Given the description of an element on the screen output the (x, y) to click on. 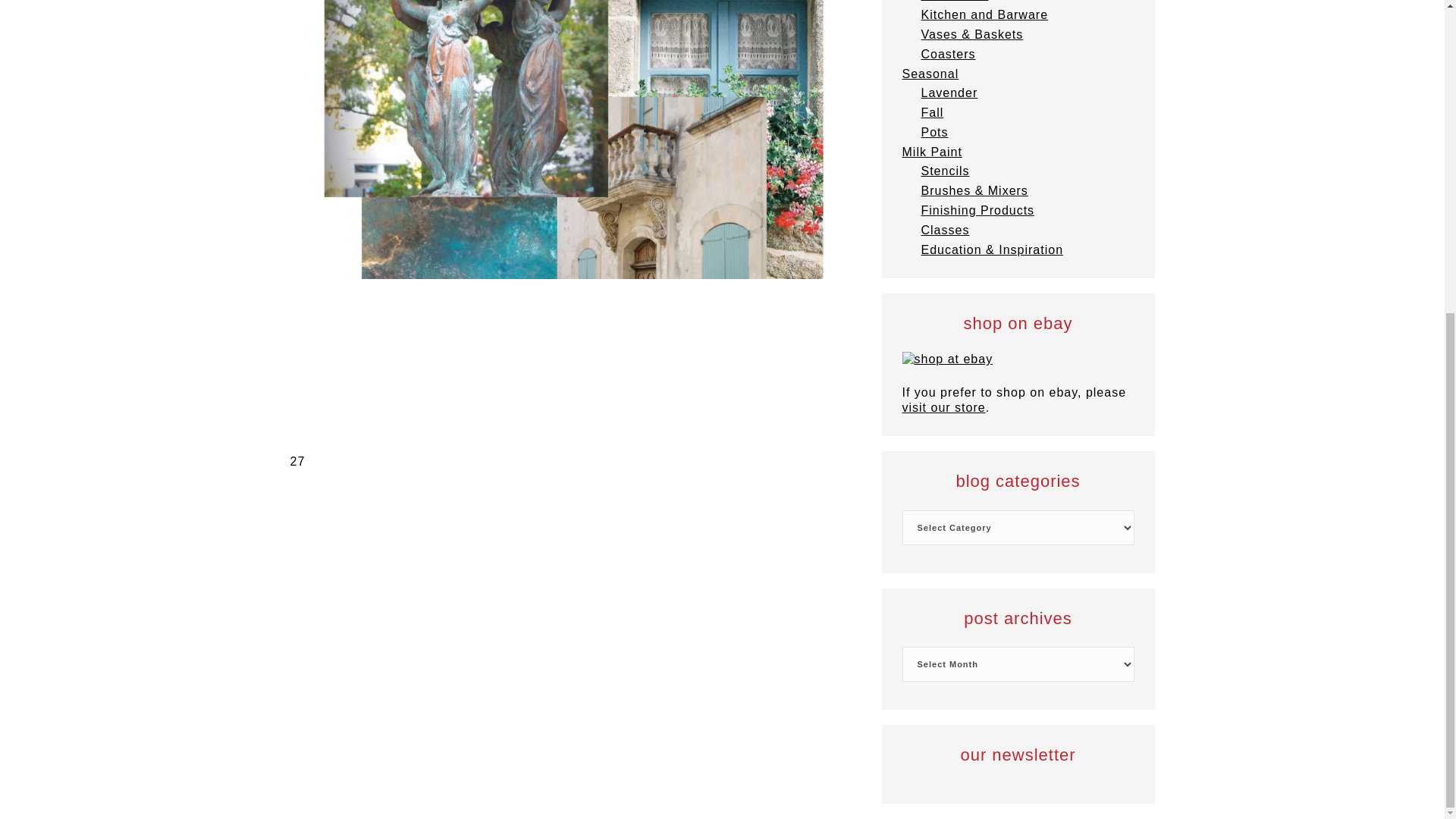
Milk Paint (932, 151)
Coasters (947, 53)
Seasonal (930, 73)
Tea Towels (954, 0)
Lavender (948, 92)
Classes (944, 229)
Kitchen and Barware (984, 14)
Finishing Products (976, 210)
Fall (931, 112)
Stencils (944, 170)
Pots (933, 132)
visit our store (943, 407)
